Given the description of an element on the screen output the (x, y) to click on. 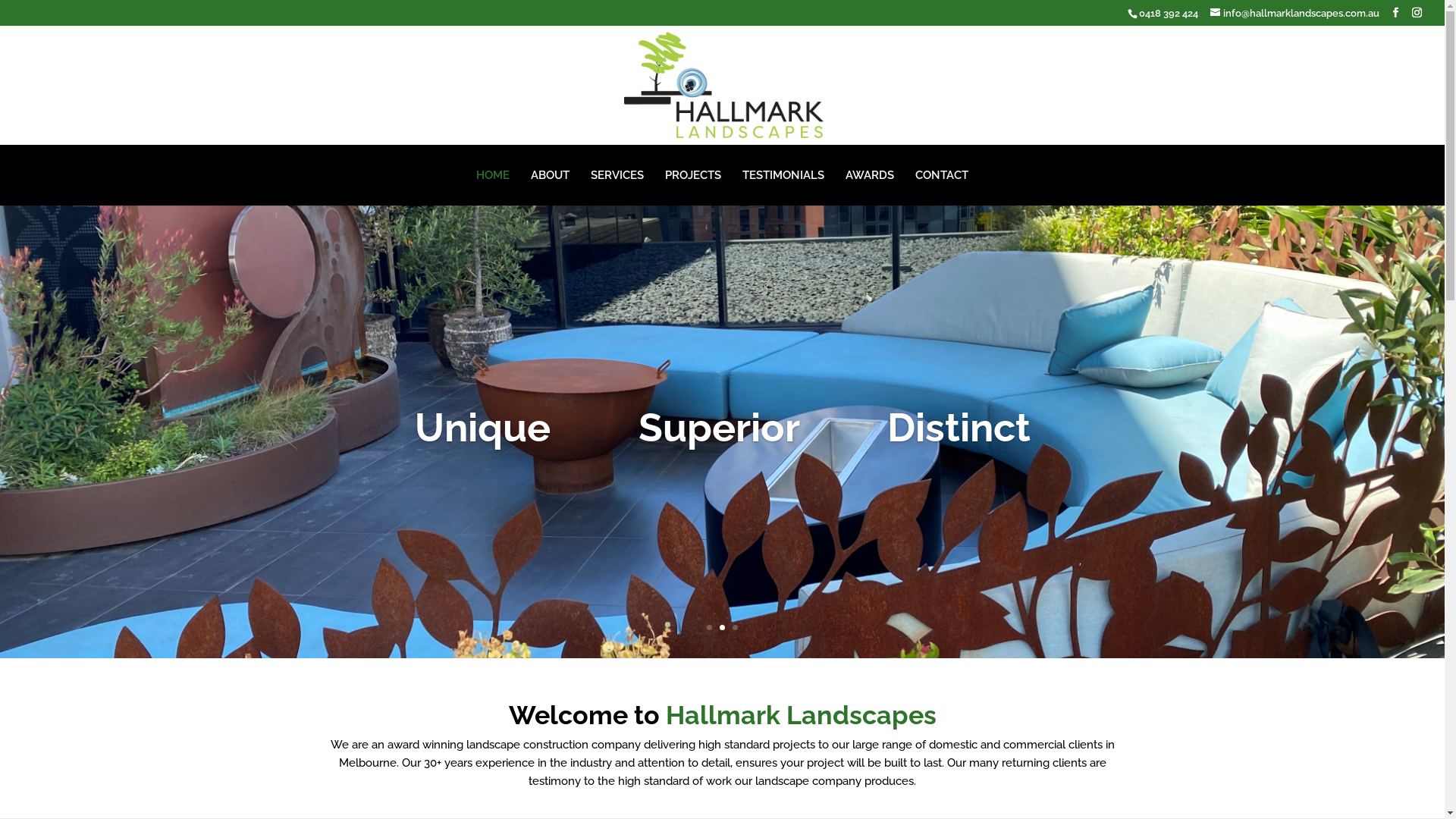
SERVICES Element type: text (616, 174)
HOME Element type: text (492, 174)
PROJECTS Element type: text (692, 174)
TESTIMONIALS Element type: text (783, 174)
CONTACT Element type: text (941, 174)
3 Element type: text (734, 627)
ABOUT Element type: text (549, 174)
1 Element type: text (709, 627)
2 Element type: text (721, 627)
AWARDS Element type: text (869, 174)
info@hallmarklandscapes.com.au Element type: text (1294, 12)
